Given the description of an element on the screen output the (x, y) to click on. 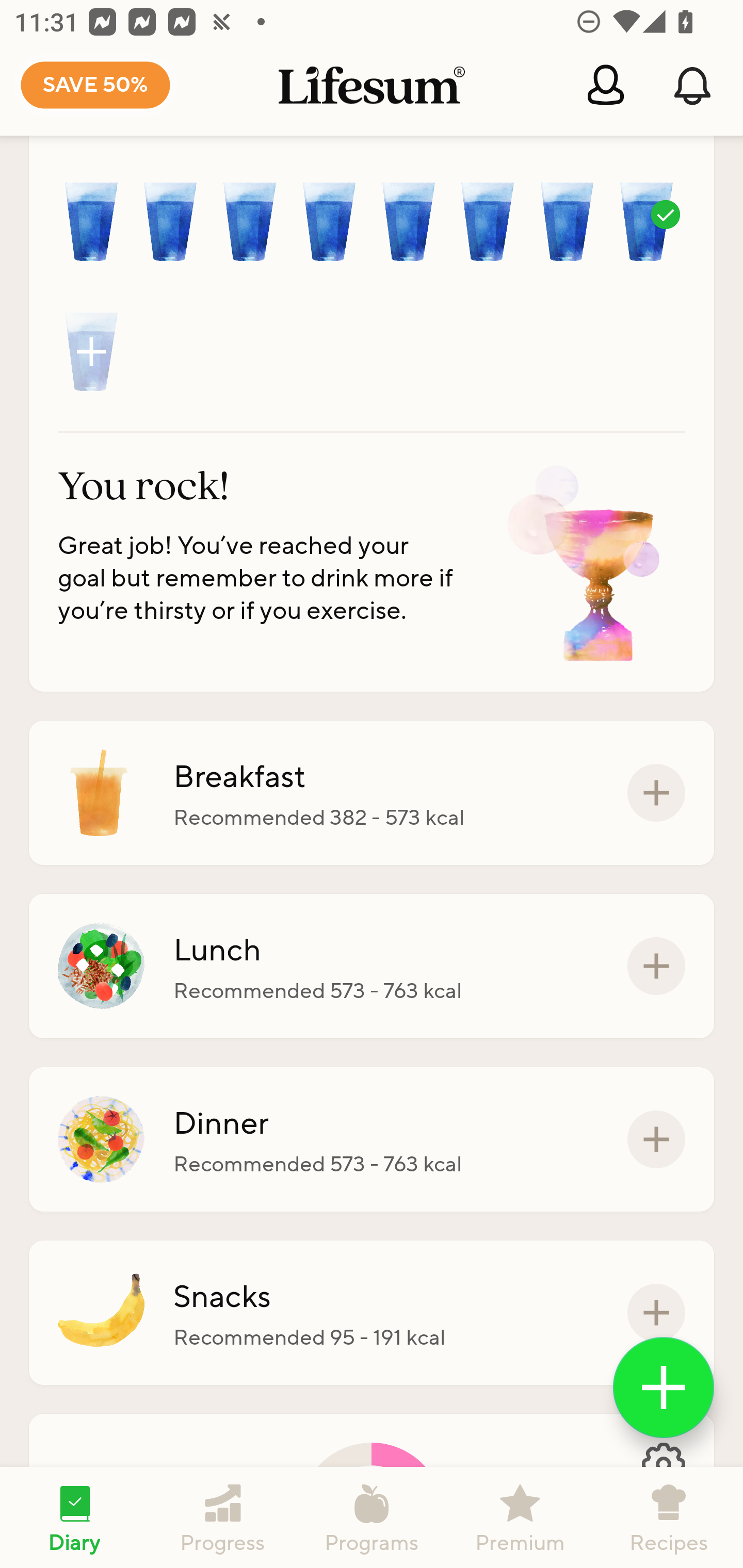
Breakfast Recommended 382 - 573 kcal (371, 793)
Lunch Recommended 573 - 763 kcal (371, 965)
Dinner Recommended 573 - 763 kcal (371, 1139)
Snacks Recommended 95 - 191 kcal (371, 1312)
Progress (222, 1517)
Programs (371, 1517)
Premium (519, 1517)
Recipes (668, 1517)
